Given the description of an element on the screen output the (x, y) to click on. 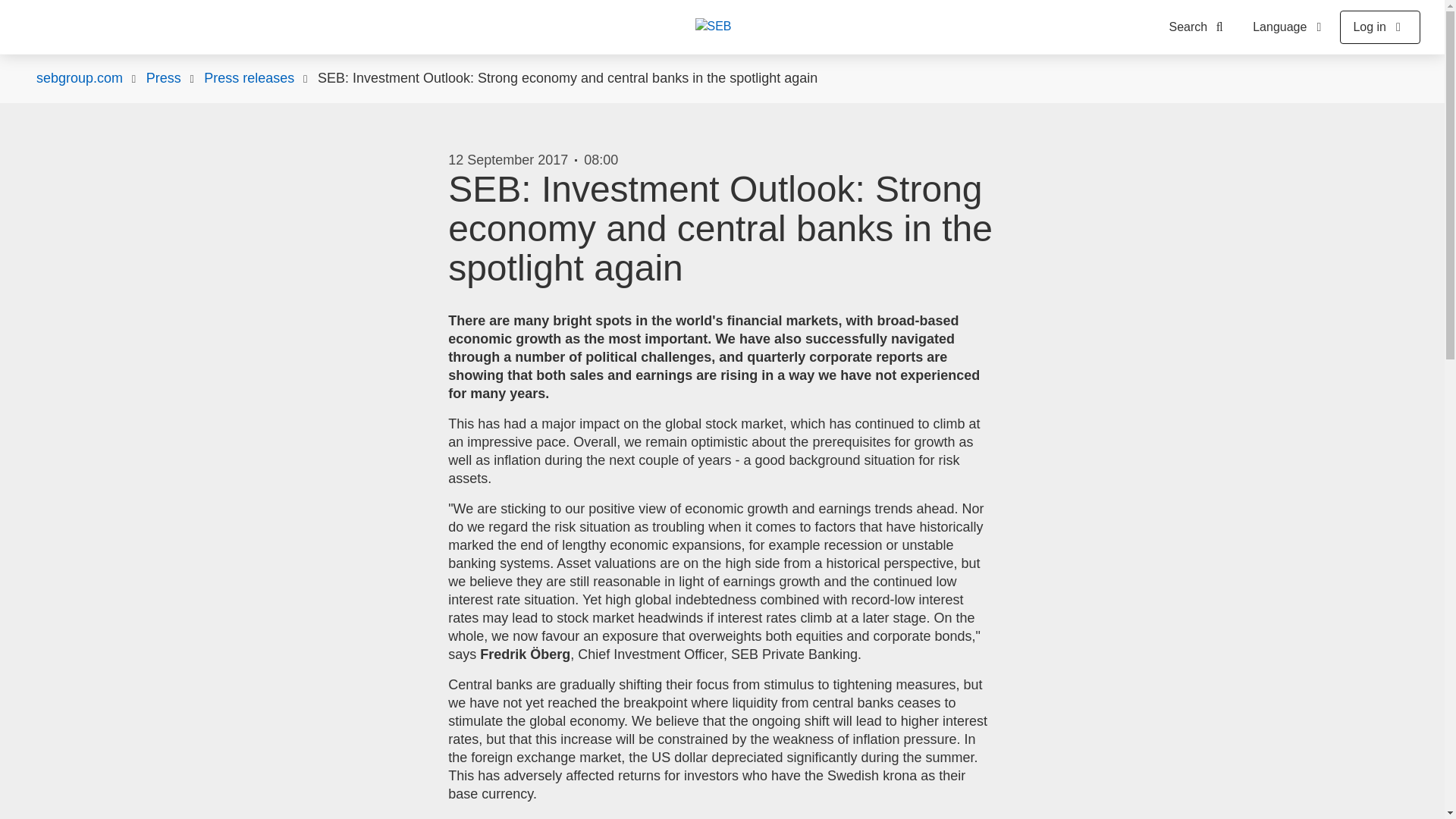
Press releases (248, 78)
Search (1199, 27)
sebgroup.com (79, 78)
Log in (1380, 27)
Press (163, 78)
Language (1289, 27)
